Given the description of an element on the screen output the (x, y) to click on. 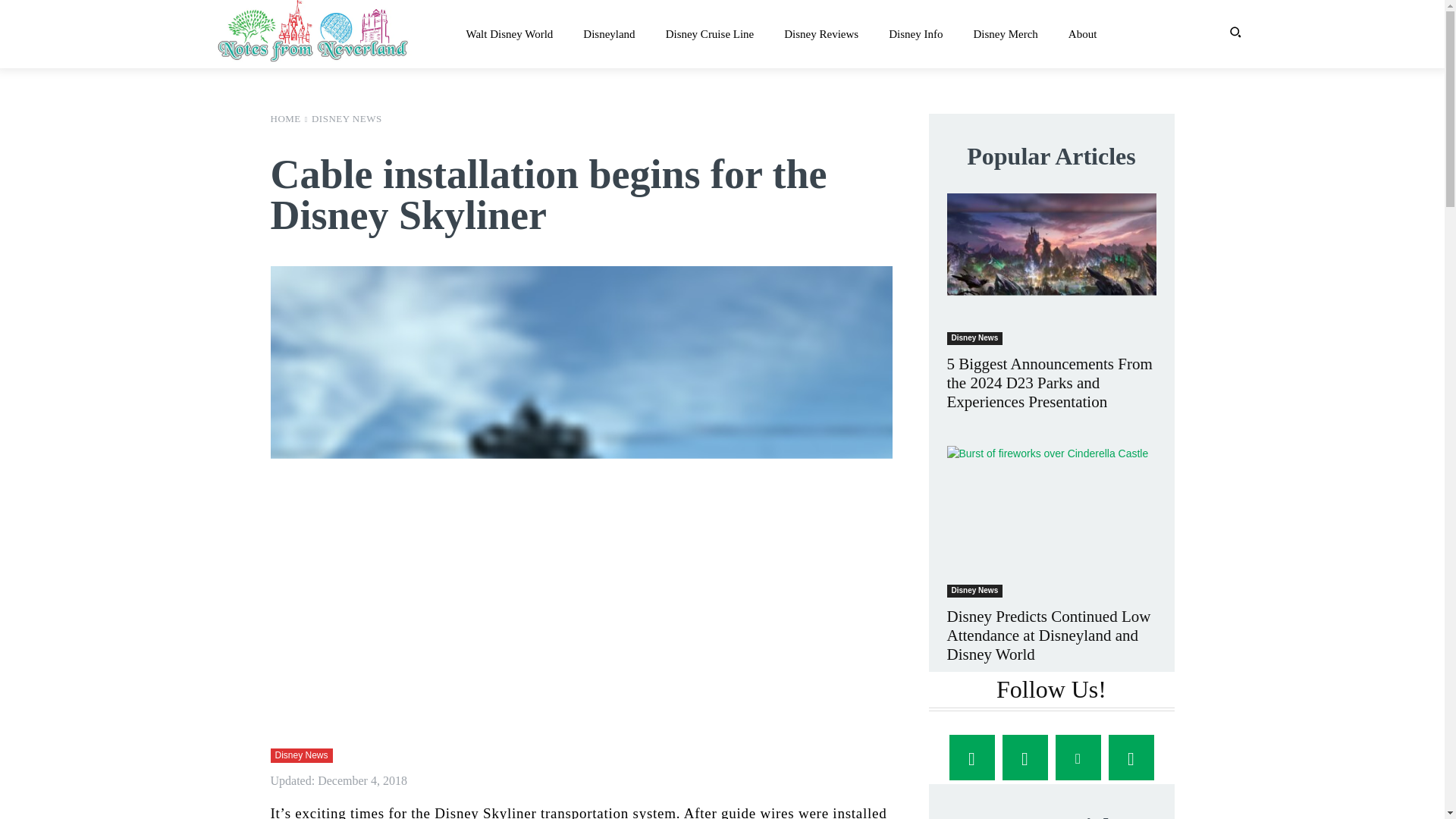
About (1083, 34)
Disneyland (608, 34)
HOME (284, 118)
Disney Reviews (821, 34)
Disney Info (915, 34)
Disney Cruise Line (709, 34)
Disney Merch (1005, 34)
DISNEY NEWS (346, 118)
View all posts in Disney News (346, 118)
